Given the description of an element on the screen output the (x, y) to click on. 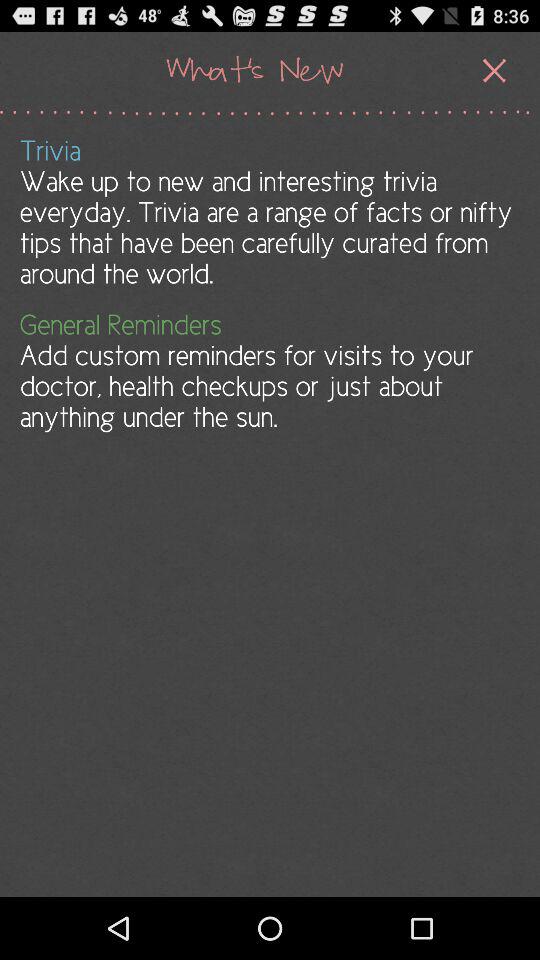
flip until general reminders add item (268, 370)
